Given the description of an element on the screen output the (x, y) to click on. 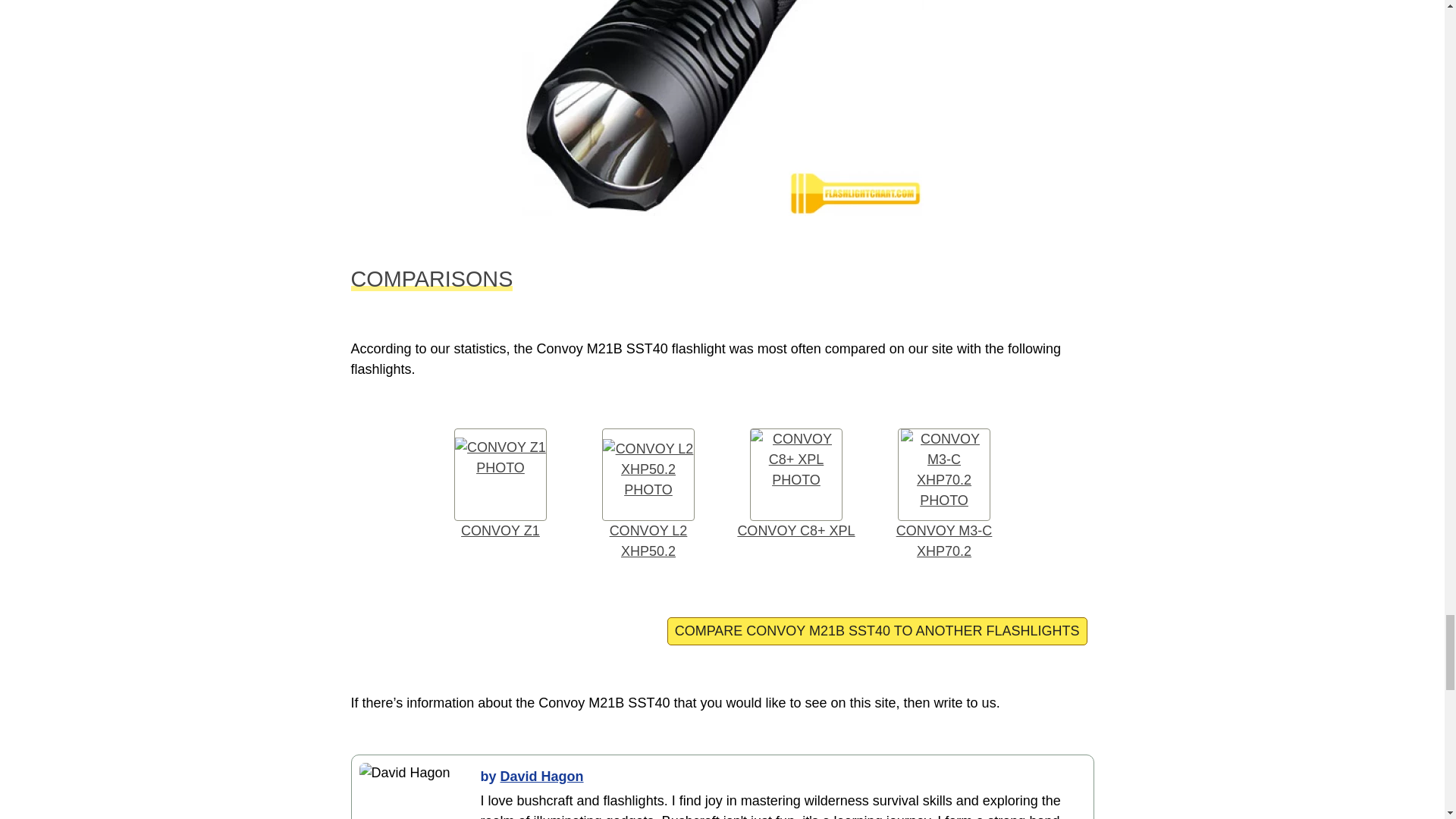
CONVOY M3-C XHP70.2 (944, 494)
David Hagon (541, 776)
CONVOY L2 XHP50.2 (648, 494)
CONVOY Z1 (500, 484)
COMPARE CONVOY M21B SST40 TO ANOTHER FLASHLIGHTS (876, 630)
